Given the description of an element on the screen output the (x, y) to click on. 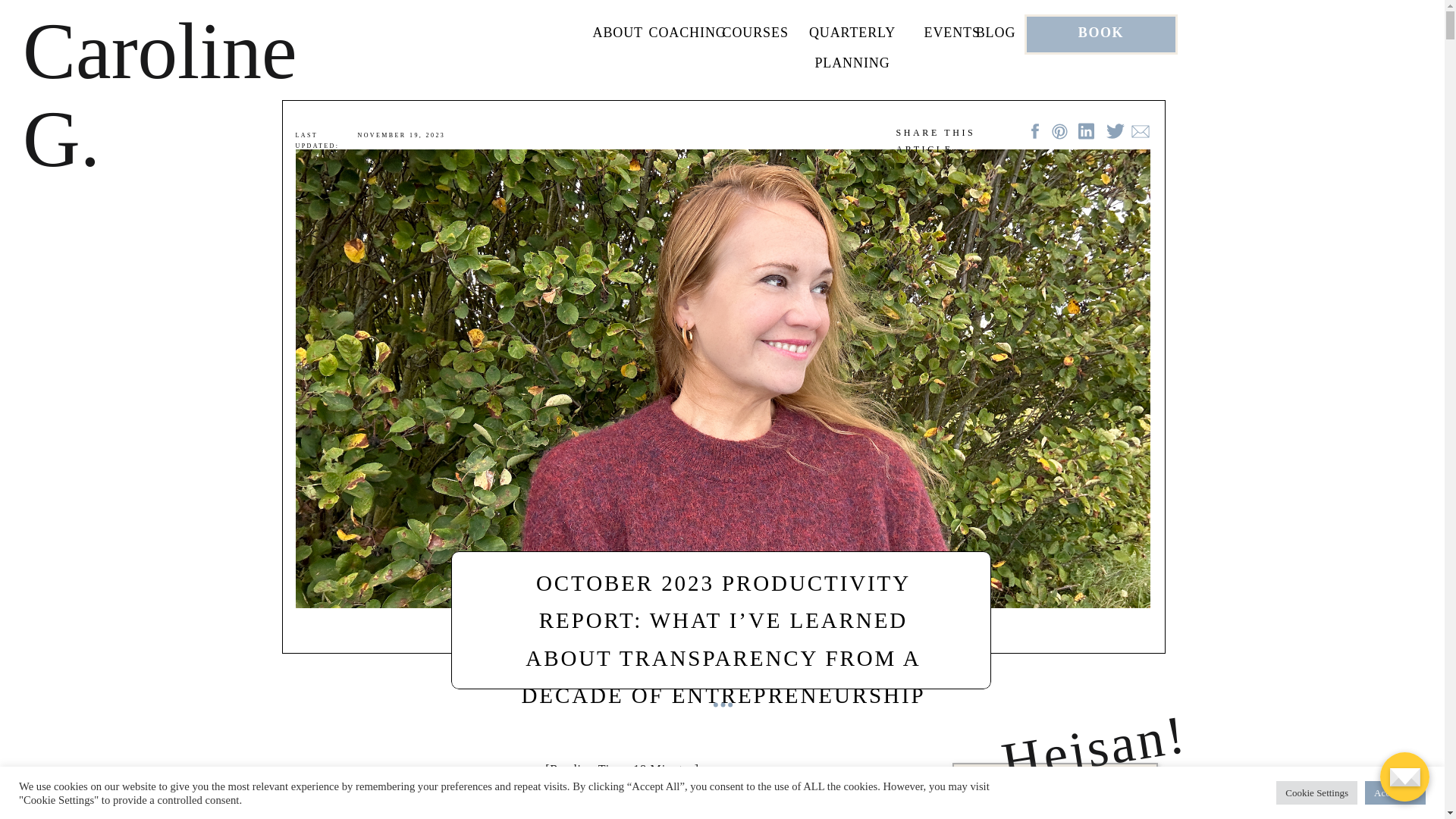
EVENTS (946, 36)
COACHING (683, 36)
QUARTERLY PLANNING (852, 36)
BOOK APPOINTMENT (1100, 34)
BLOG (994, 36)
Caroline G. (178, 54)
ABOUT (614, 36)
COURSES (750, 36)
